Given the description of an element on the screen output the (x, y) to click on. 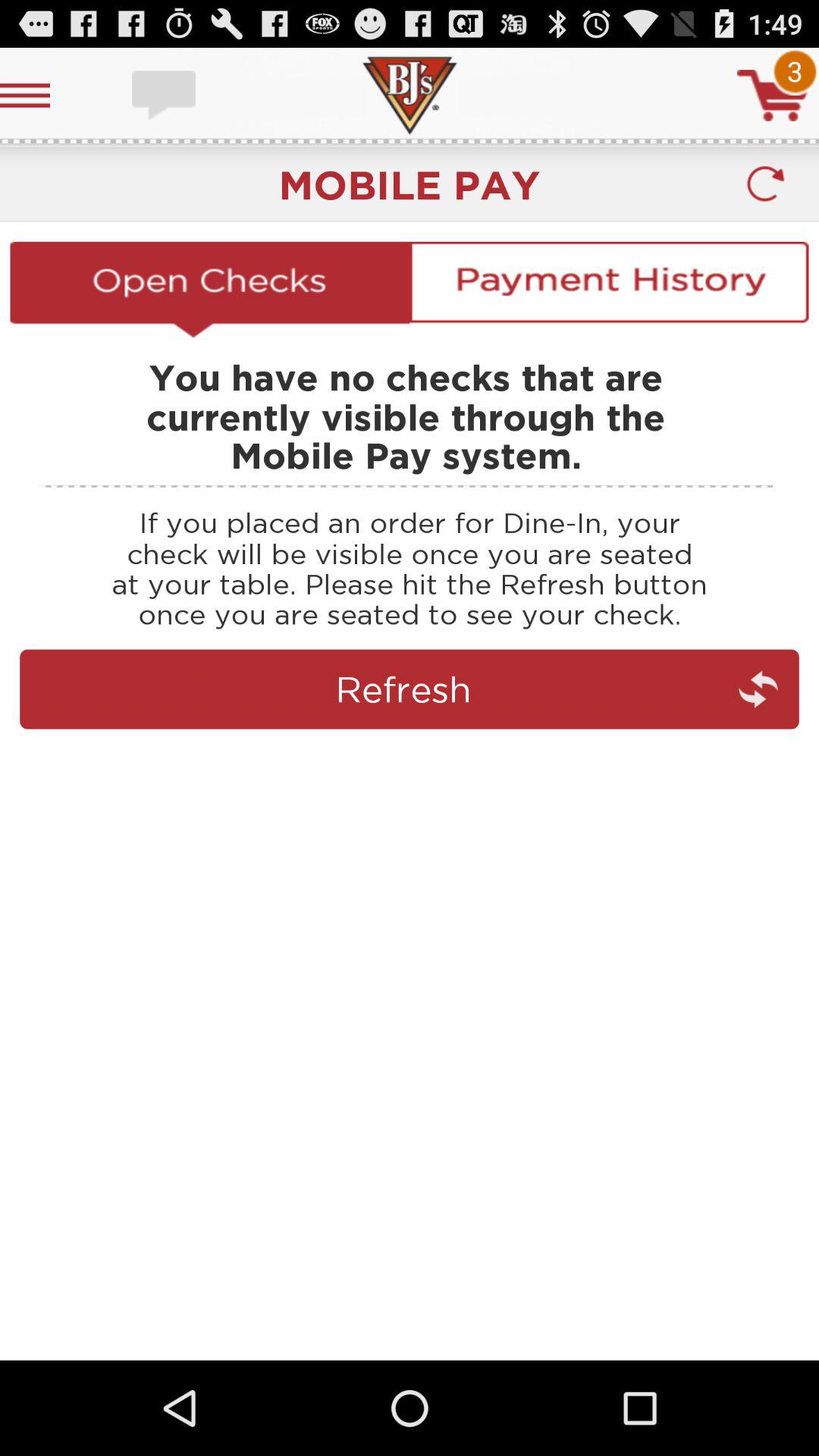
inbox of the button (165, 95)
